Given the description of an element on the screen output the (x, y) to click on. 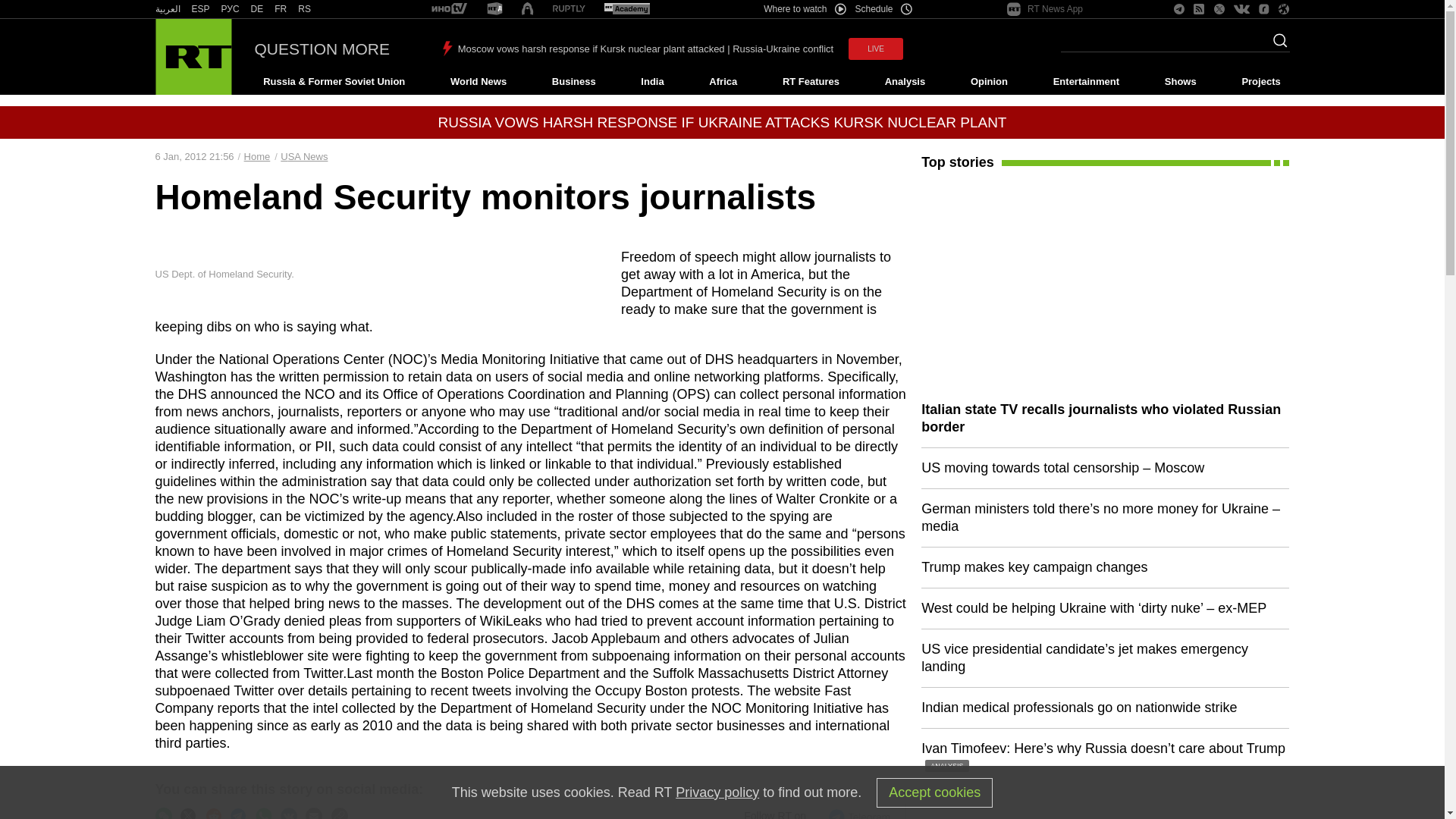
Entertainment (1085, 81)
Shows (1180, 81)
RT  (626, 9)
Where to watch (803, 9)
Search (1276, 44)
RT  (230, 9)
RT Features (810, 81)
RT News App (1045, 9)
RT  (448, 9)
FR (280, 9)
